Given the description of an element on the screen output the (x, y) to click on. 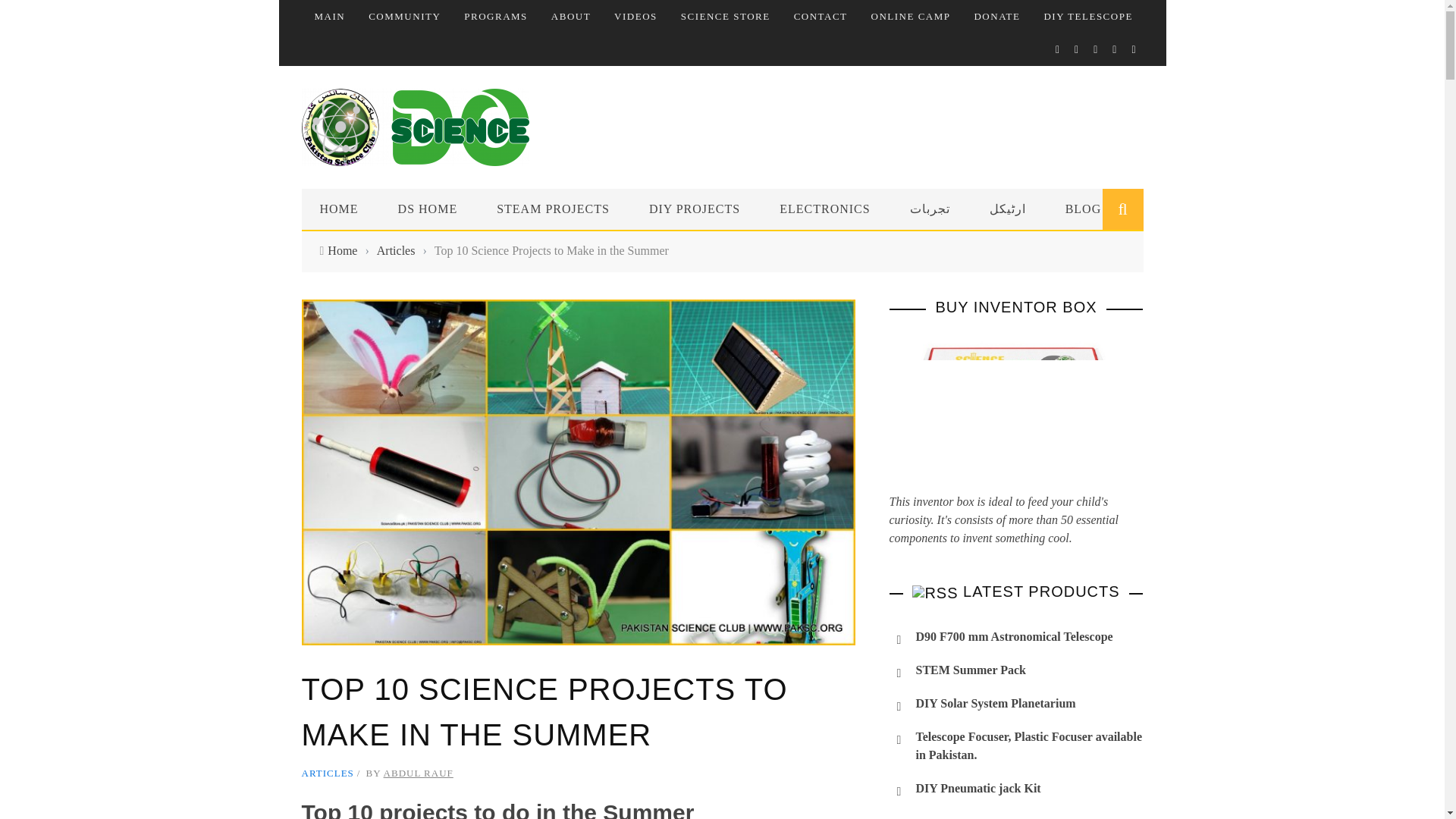
MAIN (329, 16)
ONLINE CAMP (910, 16)
CONTACT (820, 16)
PROGRAMS (495, 16)
COMMUNITY (404, 16)
Buy Inventor Box (1015, 413)
VIDEOS (636, 16)
ABOUT (571, 16)
SCIENCE STORE (725, 16)
